Given the description of an element on the screen output the (x, y) to click on. 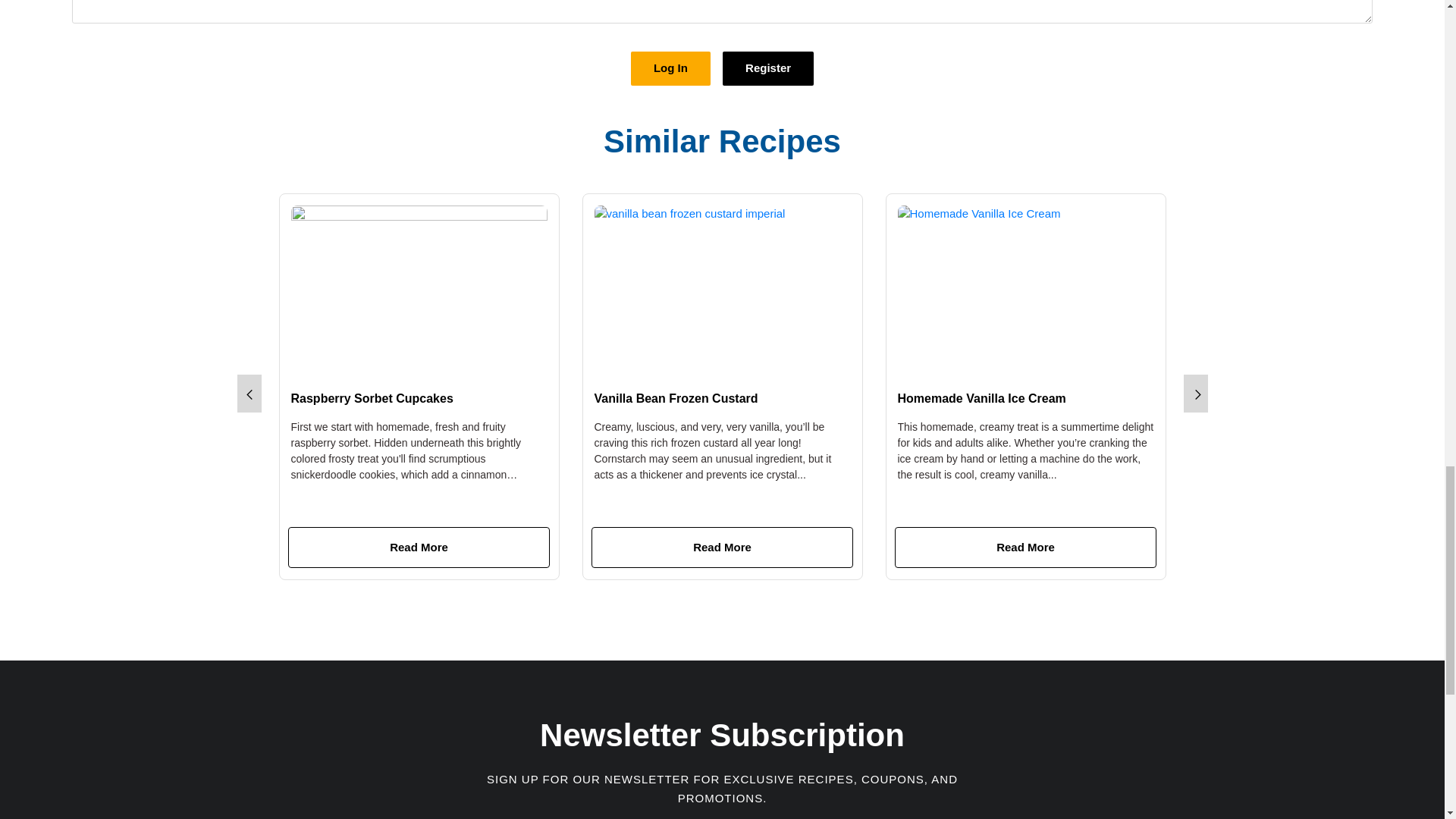
Favorite (310, 352)
Comment (363, 355)
Comment (665, 355)
Favorite (917, 352)
Favorite (614, 352)
Bookmark (400, 352)
Bookmark (704, 352)
